Given the description of an element on the screen output the (x, y) to click on. 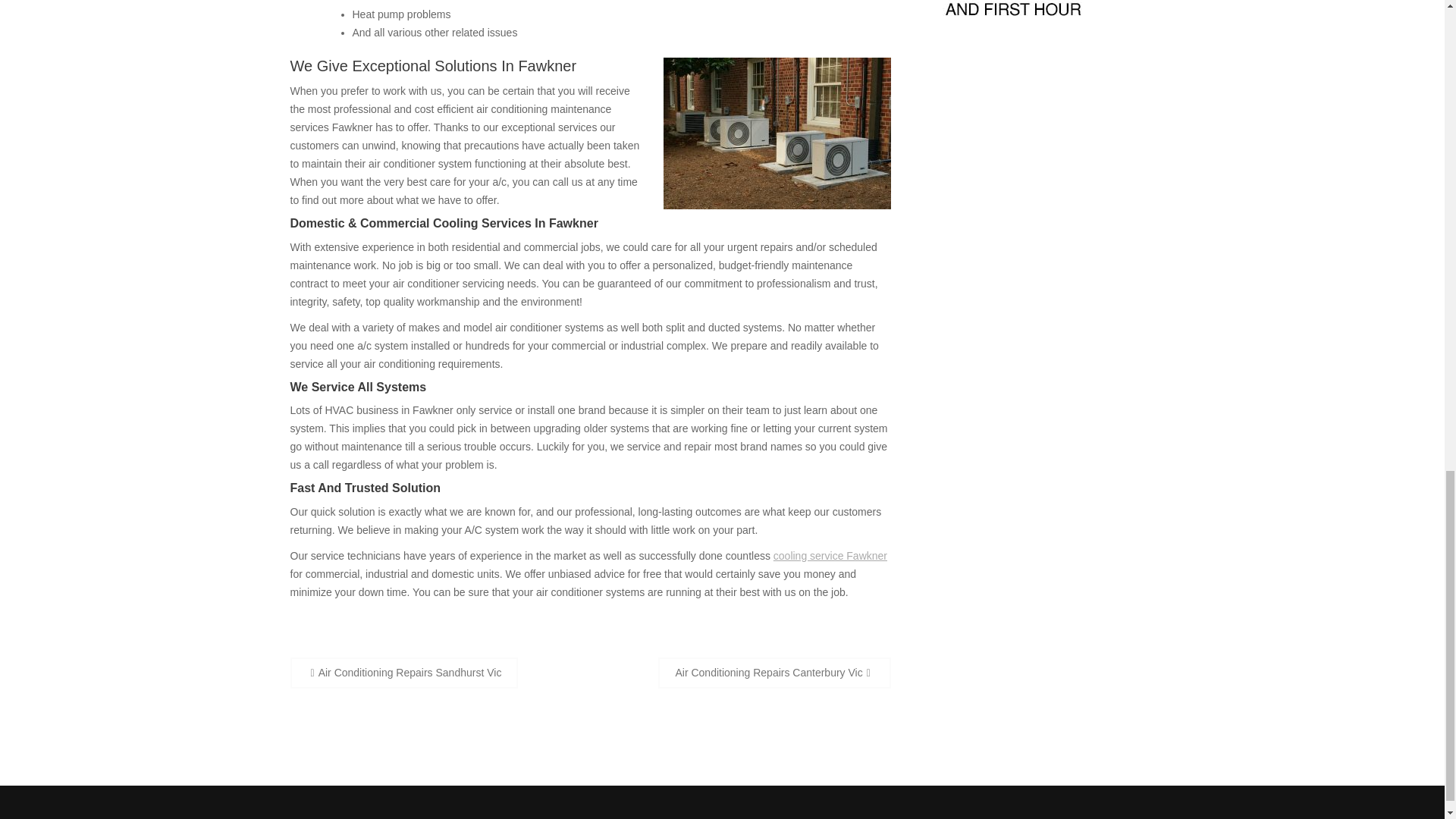
Air Conditioning Repairs Sandhurst Vic (403, 672)
Air Conditioning Repairs Canterbury Vic (773, 672)
cooling service Fawkner (829, 555)
